Given the description of an element on the screen output the (x, y) to click on. 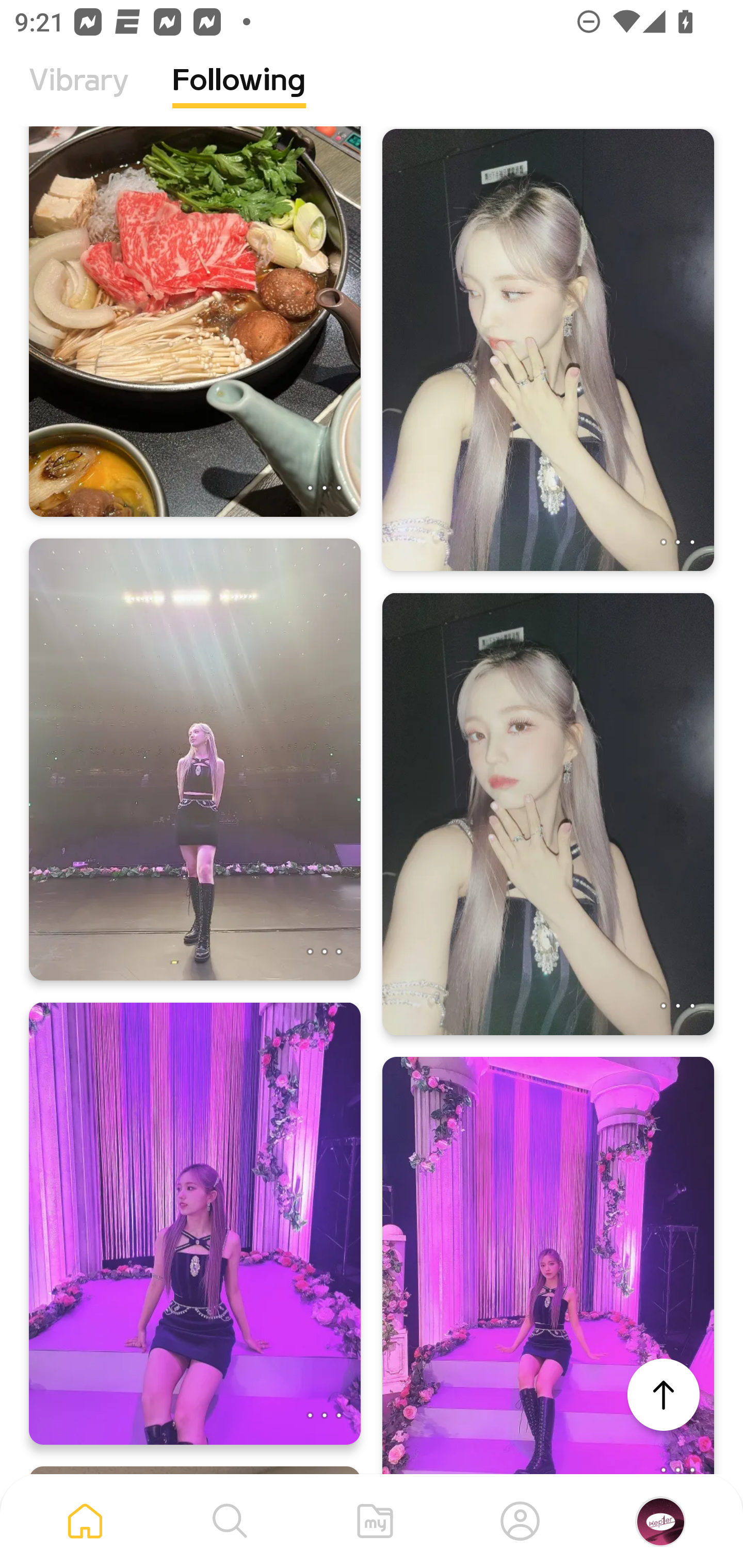
Vibrary (78, 95)
Following (239, 95)
